Given the description of an element on the screen output the (x, y) to click on. 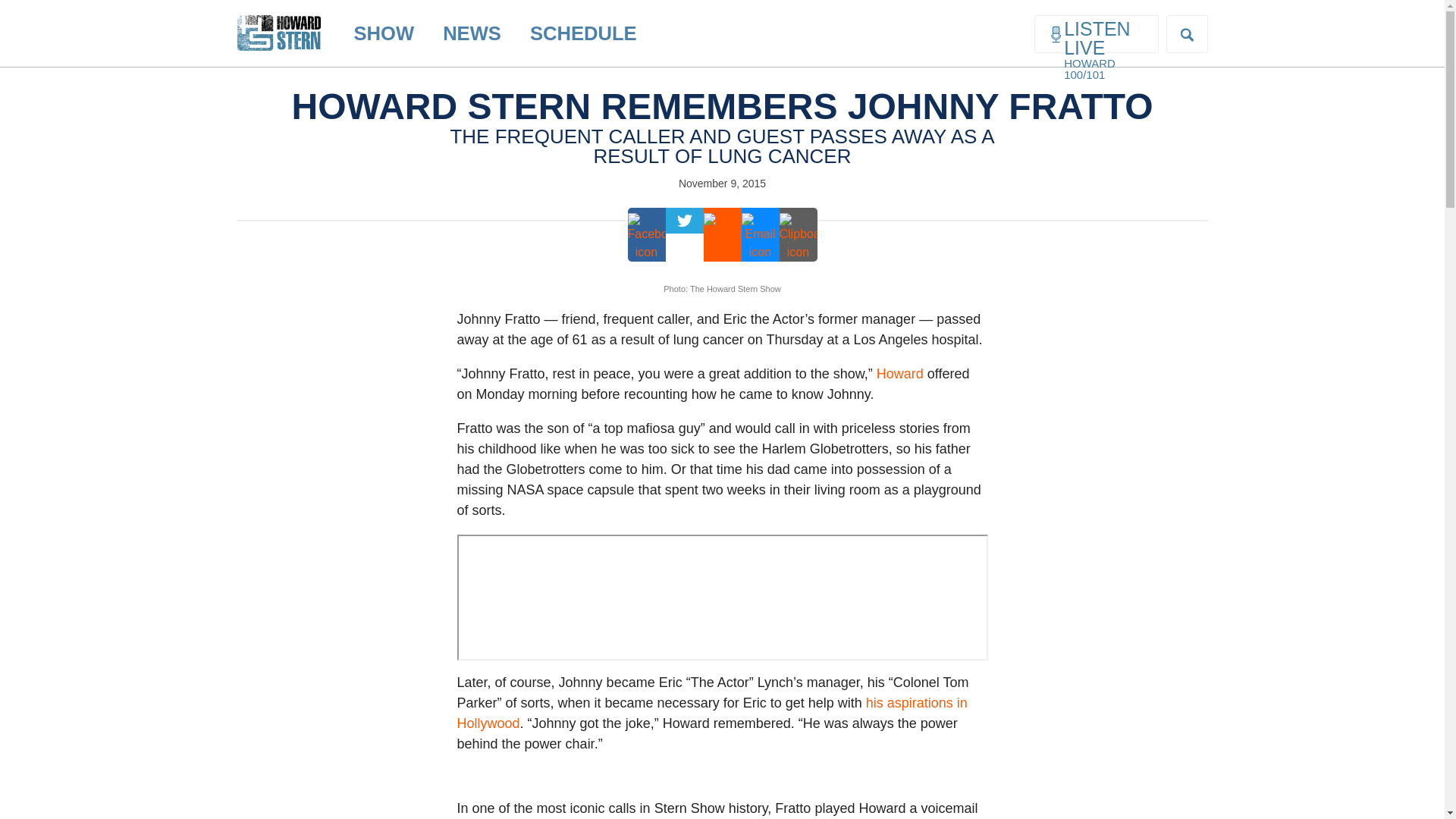
his aspirations in Hollywood (711, 713)
Howard (899, 373)
MAGNIFYING GLASS (1187, 34)
SCHEDULE (582, 33)
Search (24, 9)
SHOW (384, 33)
MAGNIFYING GLASS (1185, 34)
NEWS (471, 33)
Howard Stern (277, 20)
